Given the description of an element on the screen output the (x, y) to click on. 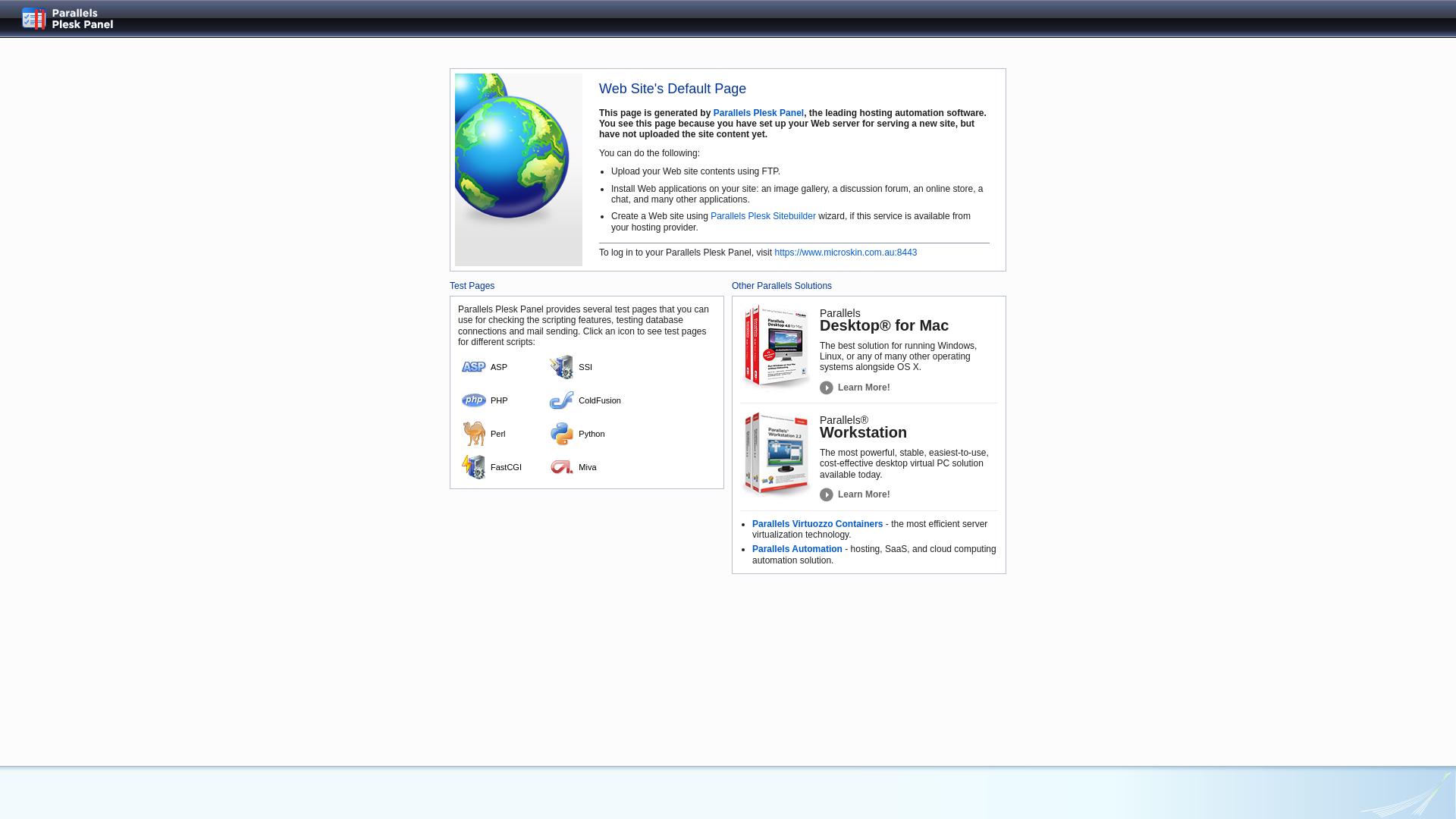
Parallels Plesk Panel Element type: text (758, 112)
SSI Element type: text (590, 366)
FastCGI Element type: text (502, 467)
Learn More! Element type: text (854, 387)
Perl Element type: text (502, 433)
https://www.microskin.com.au:8443 Element type: text (845, 252)
Parallels Plesk Panel Element type: text (79, 18)
ColdFusion Element type: text (590, 400)
Parallels Plesk Sitebuilder Element type: text (762, 215)
PHP Element type: text (502, 400)
Learn More! Element type: text (854, 494)
ASP Element type: text (502, 366)
Miva Element type: text (590, 467)
Python Element type: text (590, 433)
Parallels Virtuozzo Containers Element type: text (817, 523)
Parallels Automation Element type: text (797, 548)
